Given the description of an element on the screen output the (x, y) to click on. 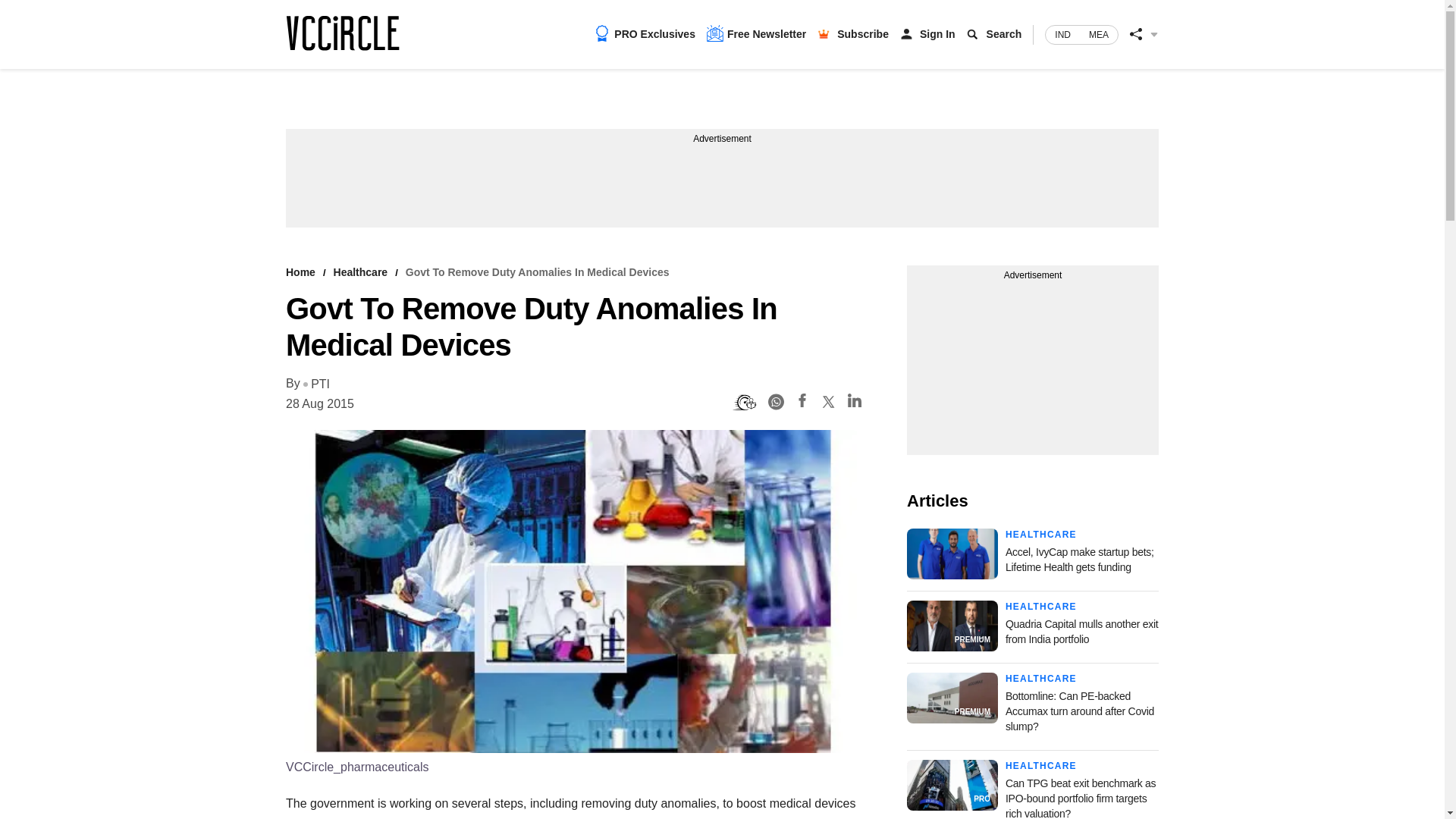
IND (1062, 34)
Search (1004, 33)
Quadria Capital mulls another exit from India portfolio (1081, 631)
Healthcare (360, 272)
HEALTHCARE (1041, 534)
HEALTHCARE (1041, 678)
Free Newsletter (756, 33)
Sign In (937, 33)
HEALTHCARE (1041, 765)
HEALTHCARE (1041, 606)
PRO Exclusives (644, 33)
Stay Home. Read Quality News (341, 32)
MEA (1099, 34)
Subscribe (862, 33)
